Given the description of an element on the screen output the (x, y) to click on. 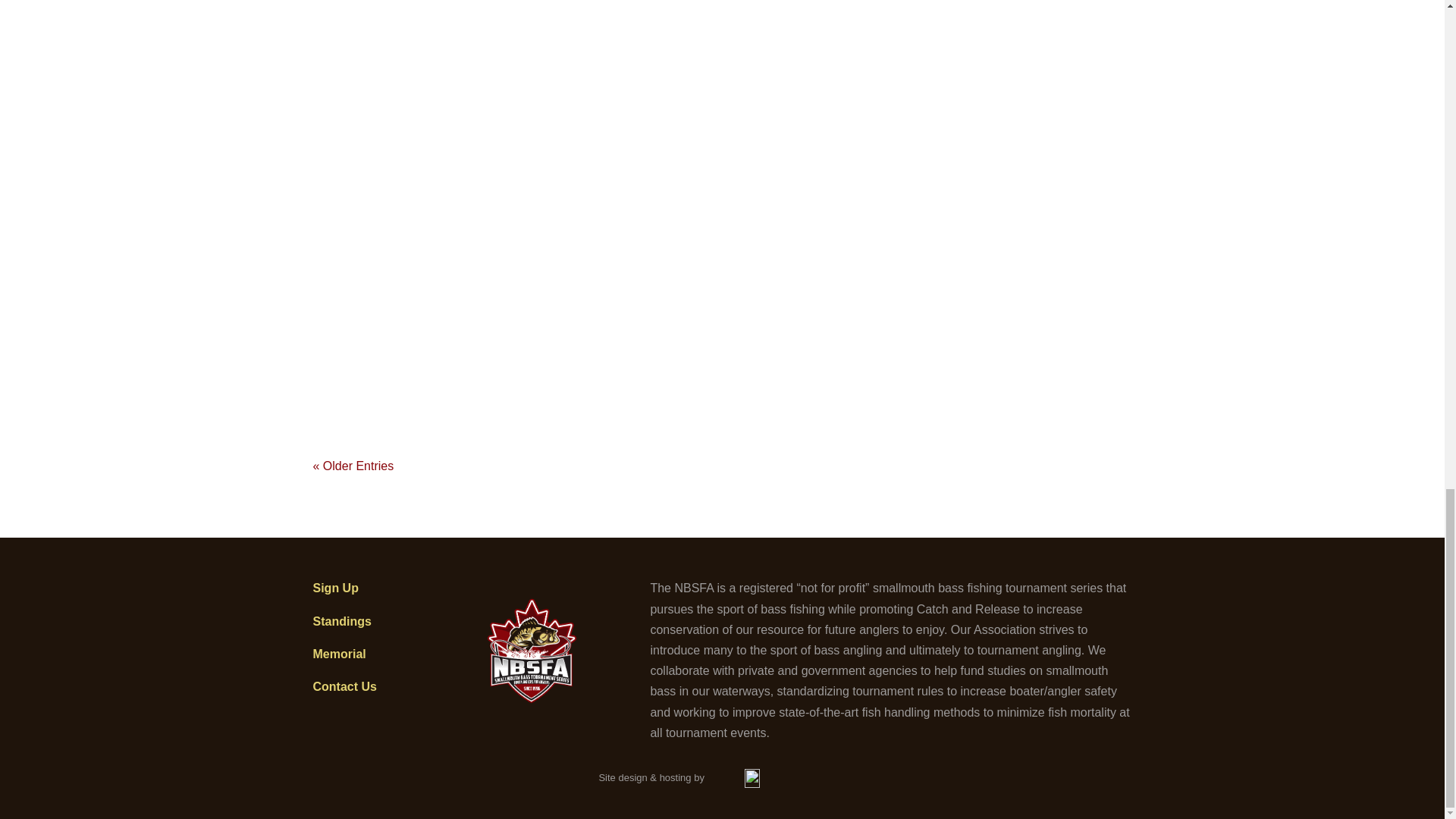
Memorial (339, 653)
Contact Us (344, 686)
Standings (342, 621)
Sign Up (335, 587)
NBSFA Transparent 512x512 (531, 650)
